Given the description of an element on the screen output the (x, y) to click on. 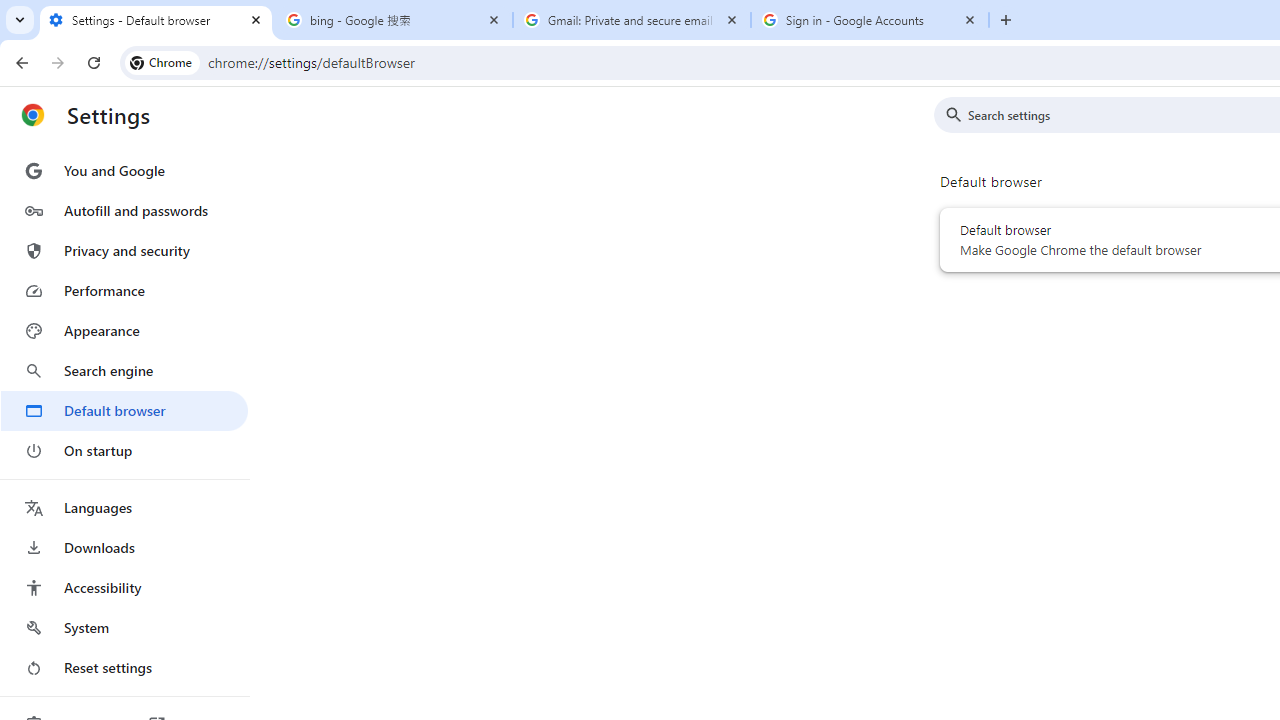
Search engine (124, 370)
On startup (124, 450)
Reset settings (124, 668)
Autofill and passwords (124, 210)
Sign in - Google Accounts (870, 20)
Settings - Default browser (156, 20)
Languages (124, 507)
Performance (124, 290)
You and Google (124, 170)
